Given the description of an element on the screen output the (x, y) to click on. 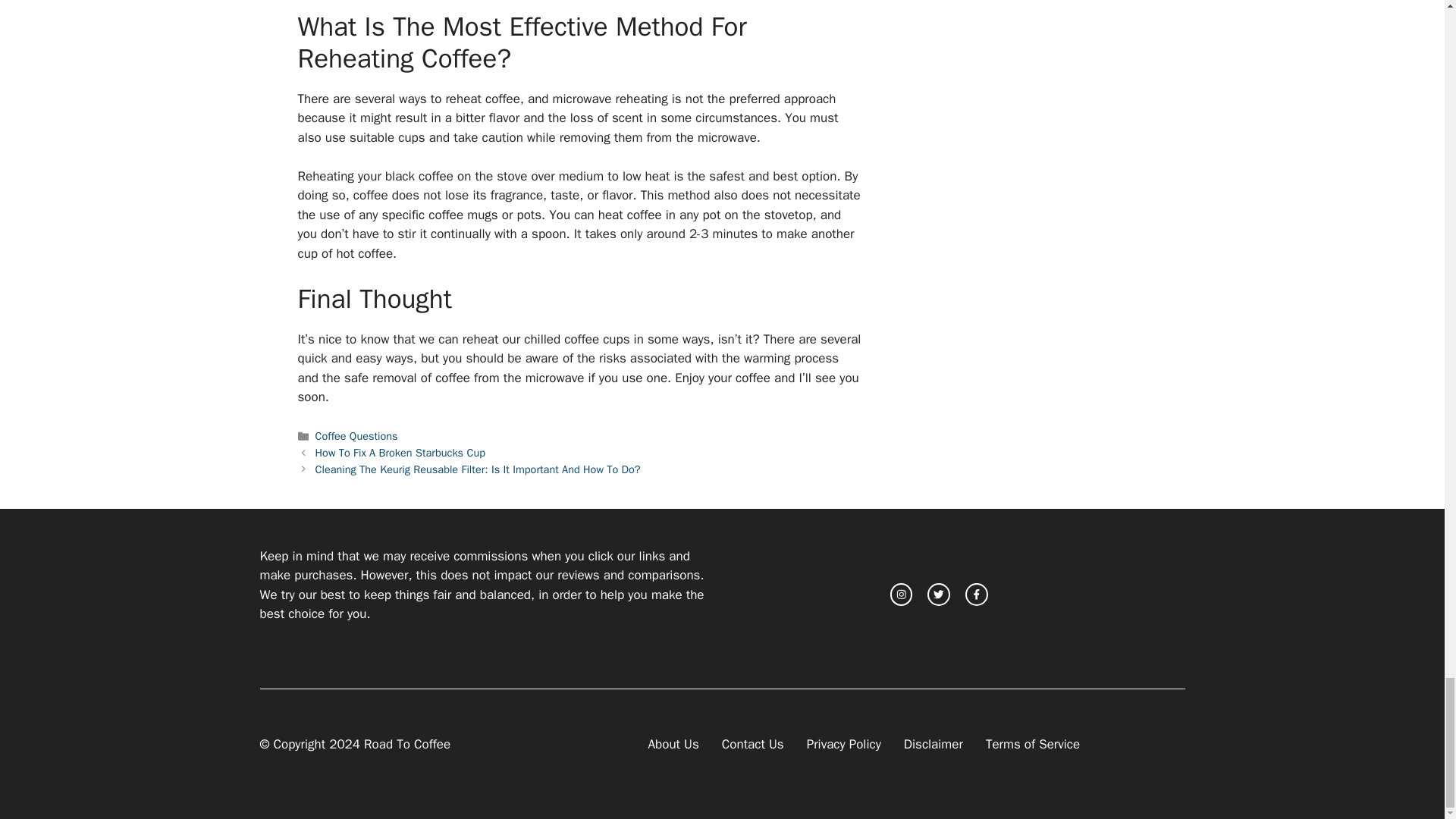
Disclaimer (933, 744)
How To Fix A Broken Starbucks Cup (399, 452)
Privacy Policy (843, 744)
Coffee Questions (356, 436)
About Us (672, 744)
Contact Us (753, 744)
Terms of Service (1032, 744)
